Given the description of an element on the screen output the (x, y) to click on. 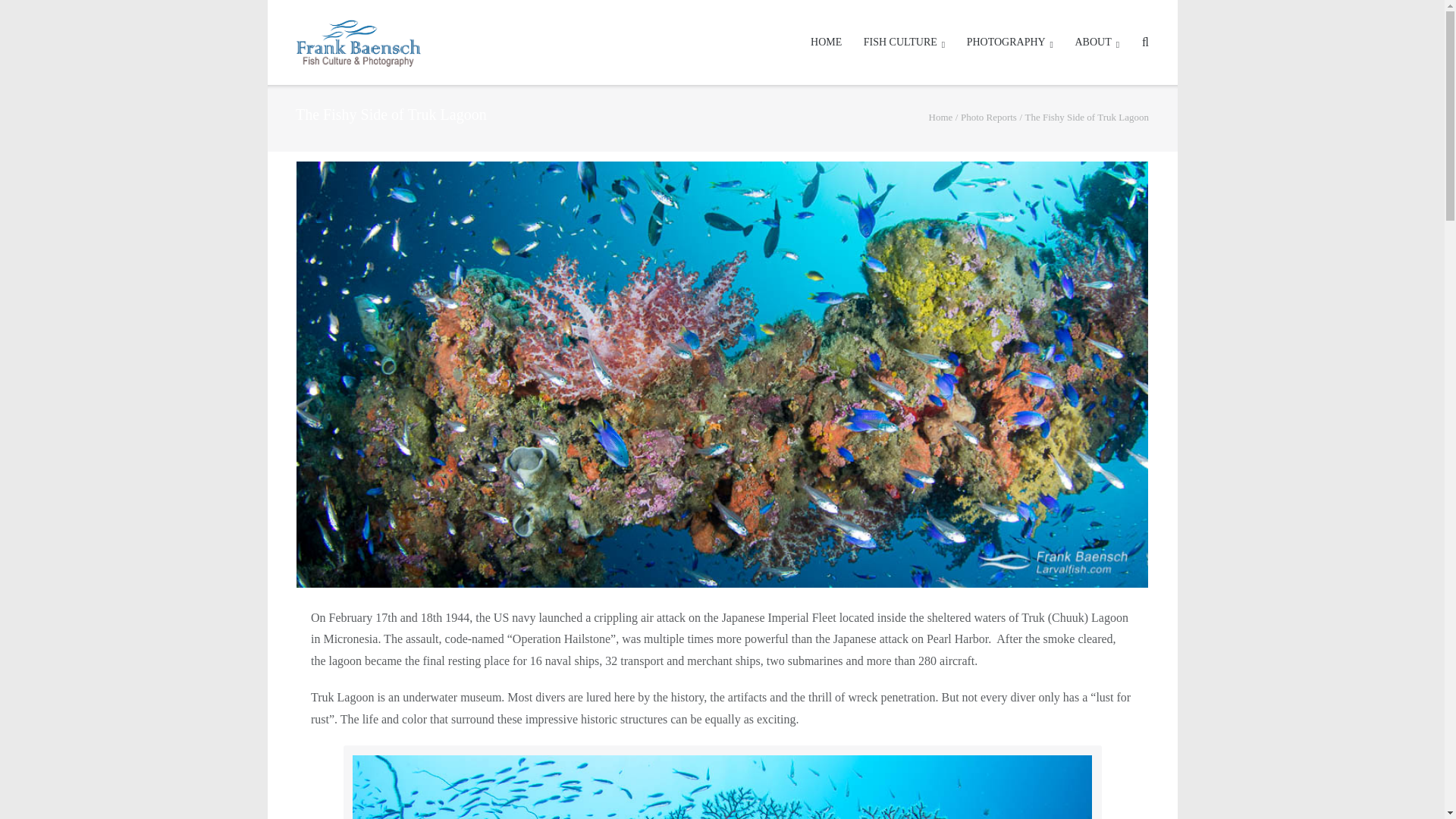
FISH CULTURE (903, 42)
Frank Baensch (940, 116)
Photo Reports (988, 116)
PHOTOGRAPHY (1009, 42)
Home (940, 116)
Photo Reports (988, 116)
